Given the description of an element on the screen output the (x, y) to click on. 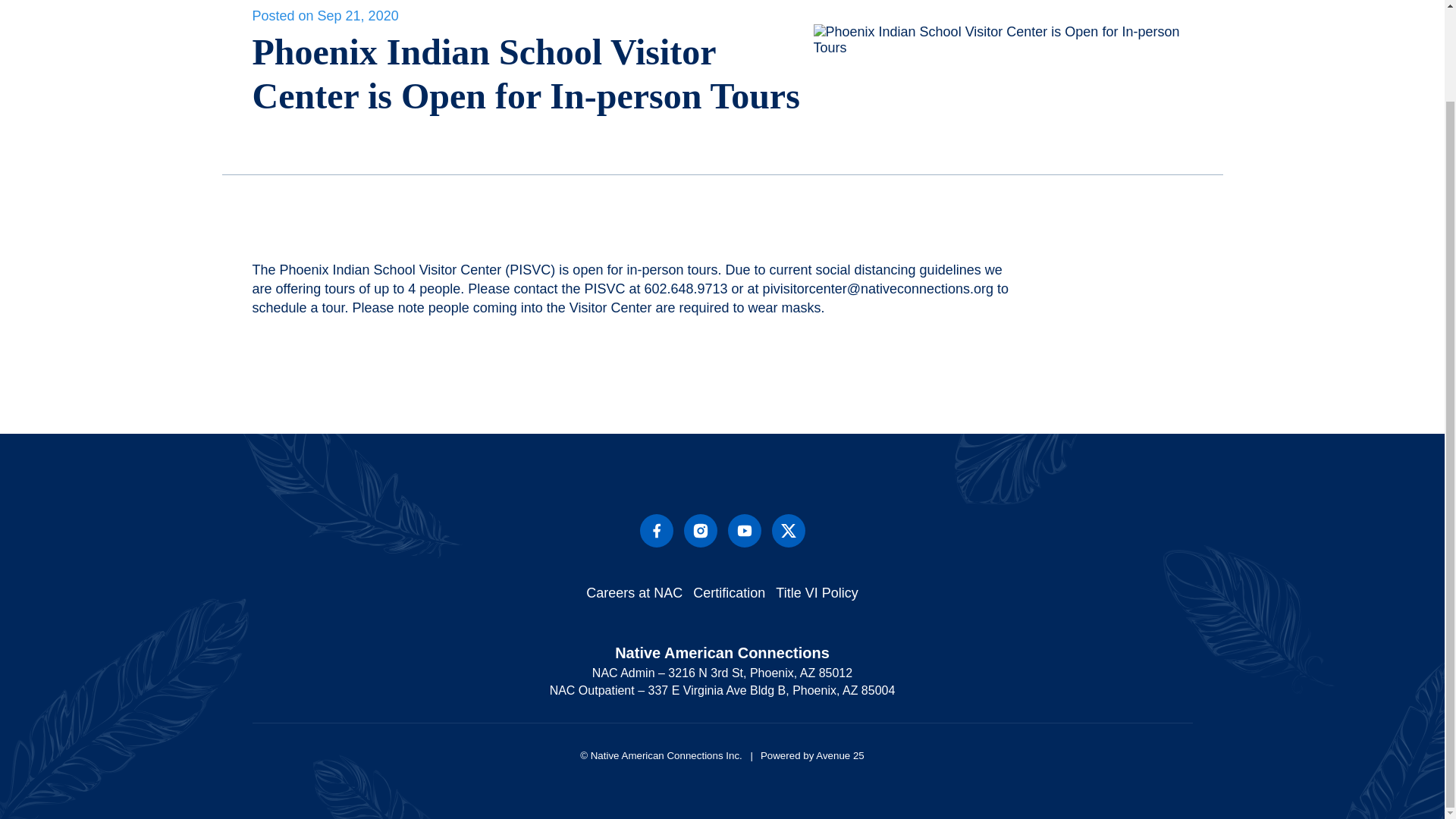
Youtube (744, 530)
Certification (729, 592)
Careers at NAC (634, 592)
X (788, 530)
Instagram (700, 530)
Powered by Avenue 25 (803, 755)
Facebook (656, 530)
Title VI Policy (816, 592)
